Given the description of an element on the screen output the (x, y) to click on. 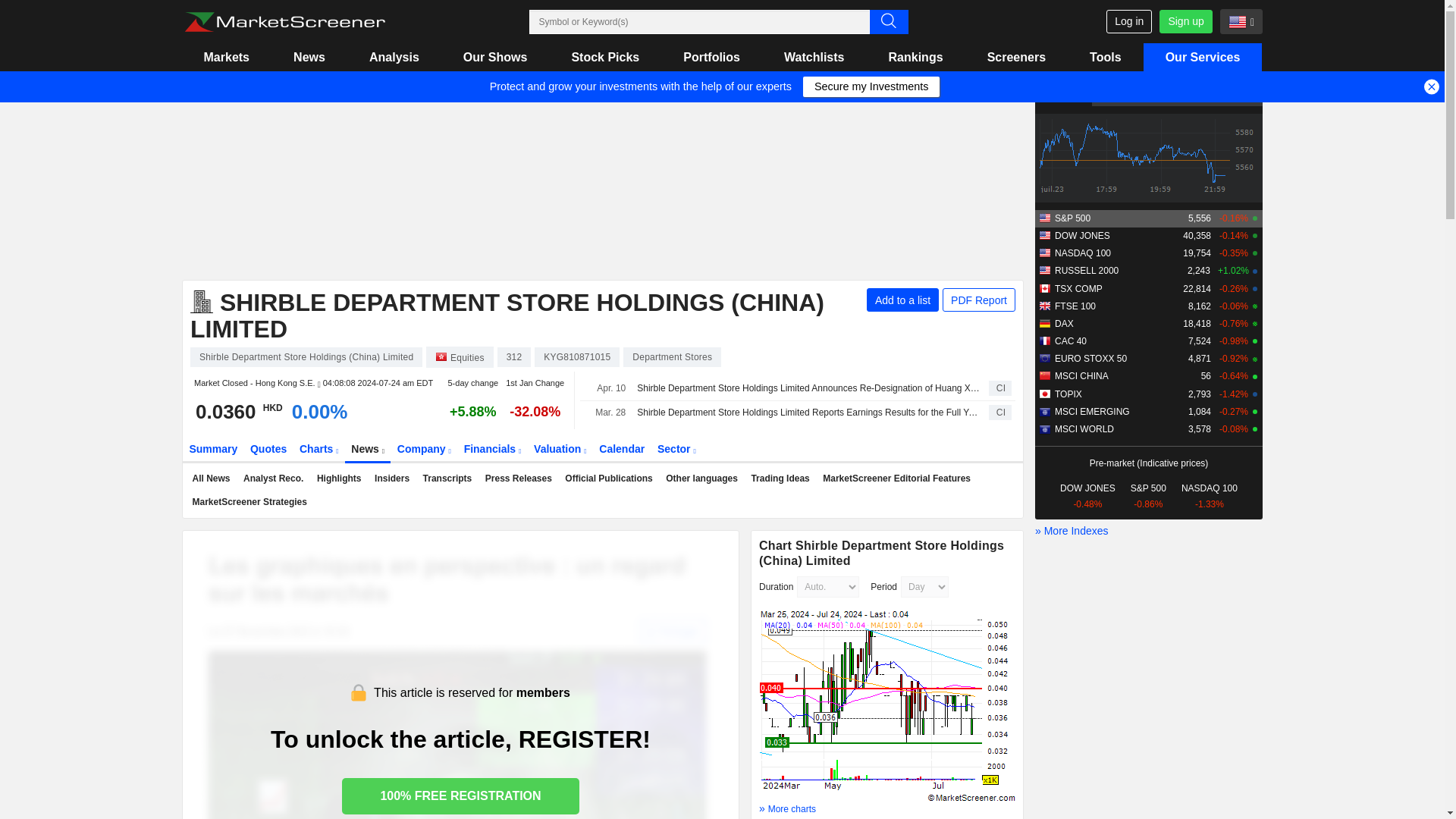
Advanced search (888, 21)
Log in (1128, 21)
Marketscreener: stock market and financial news (284, 21)
Markets (226, 57)
Sign up (1184, 21)
